Given the description of an element on the screen output the (x, y) to click on. 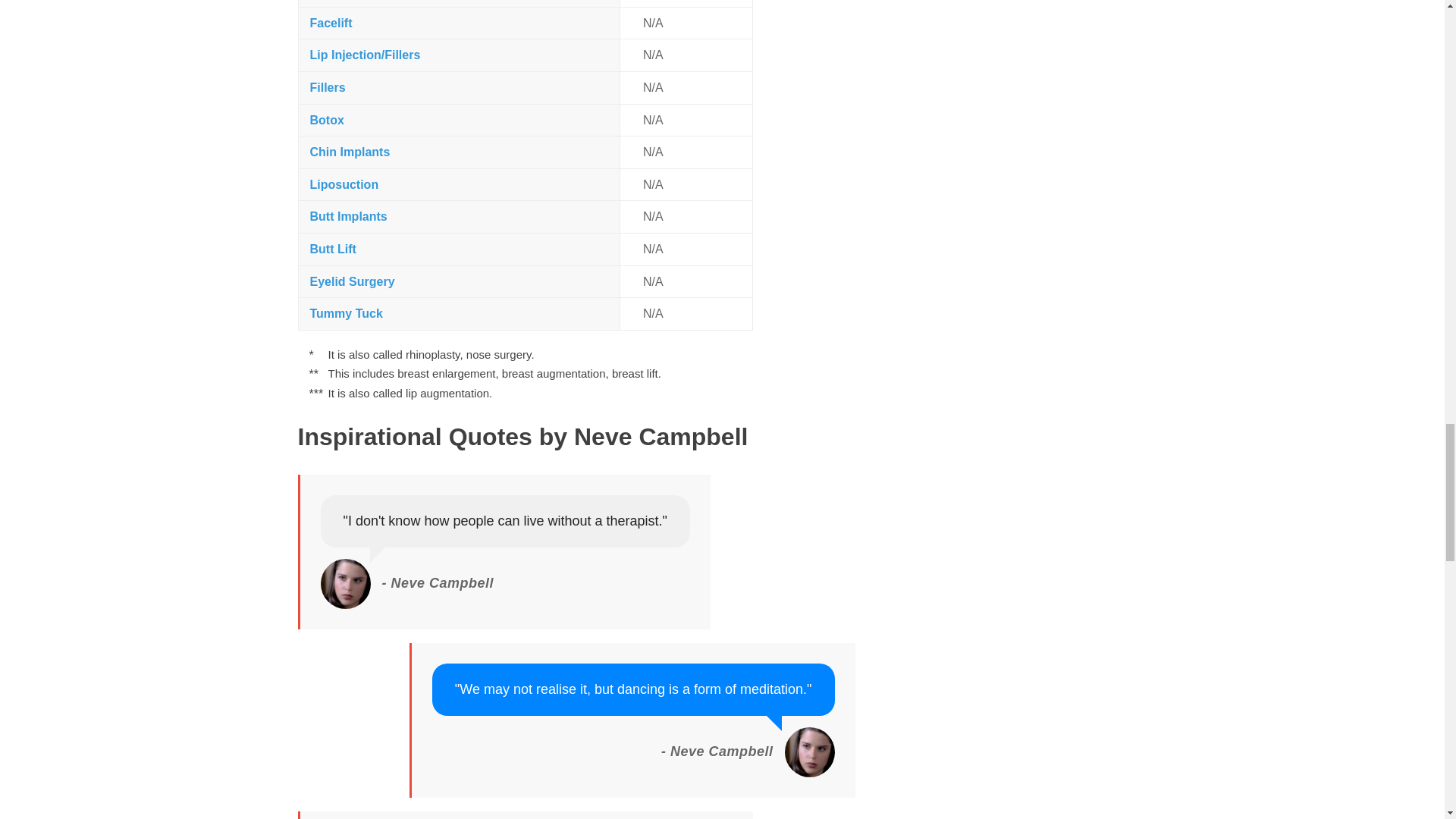
Facelift (330, 22)
Fillers (326, 87)
